Given the description of an element on the screen output the (x, y) to click on. 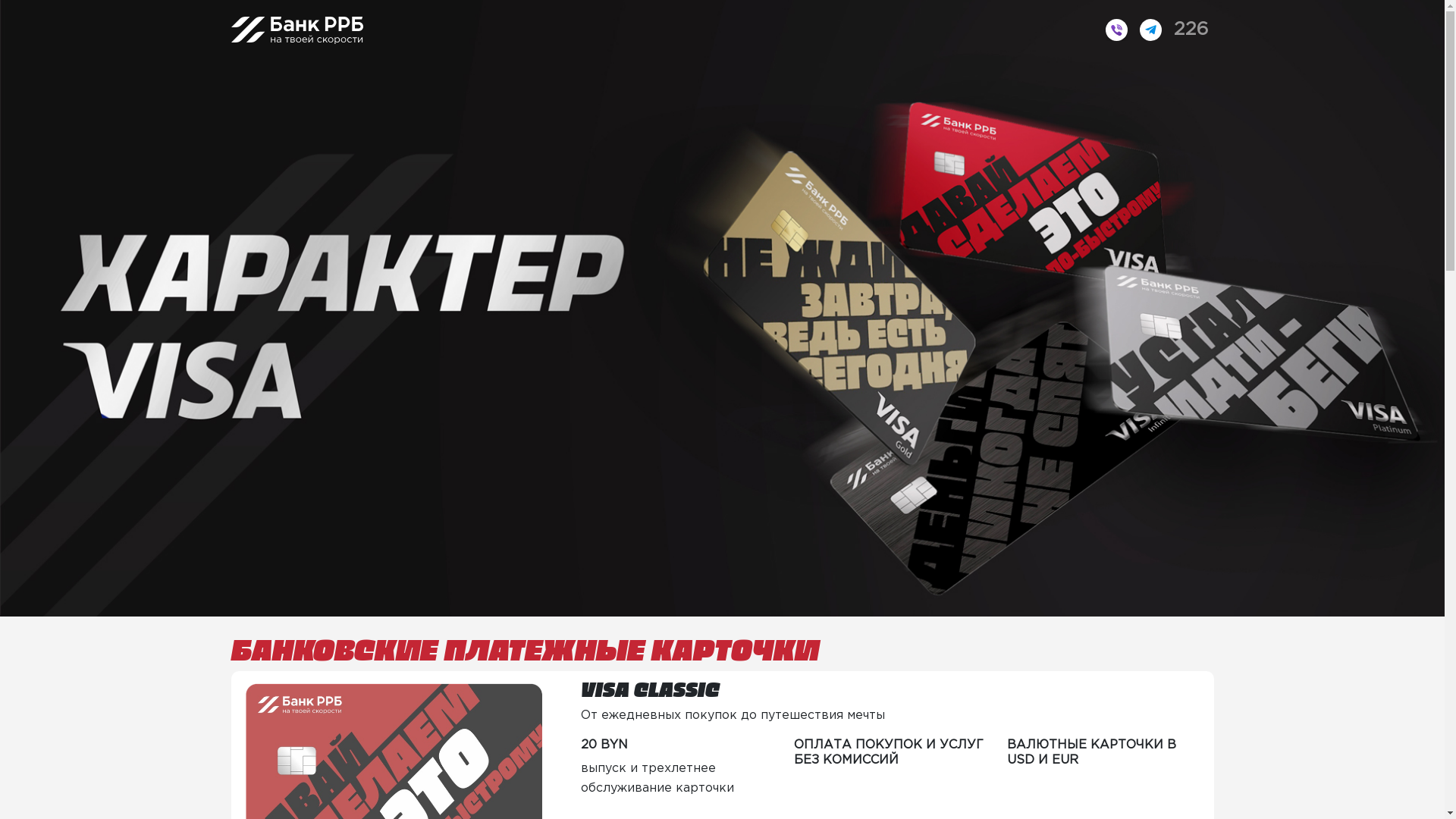
226 Element type: text (1190, 29)
